Given the description of an element on the screen output the (x, y) to click on. 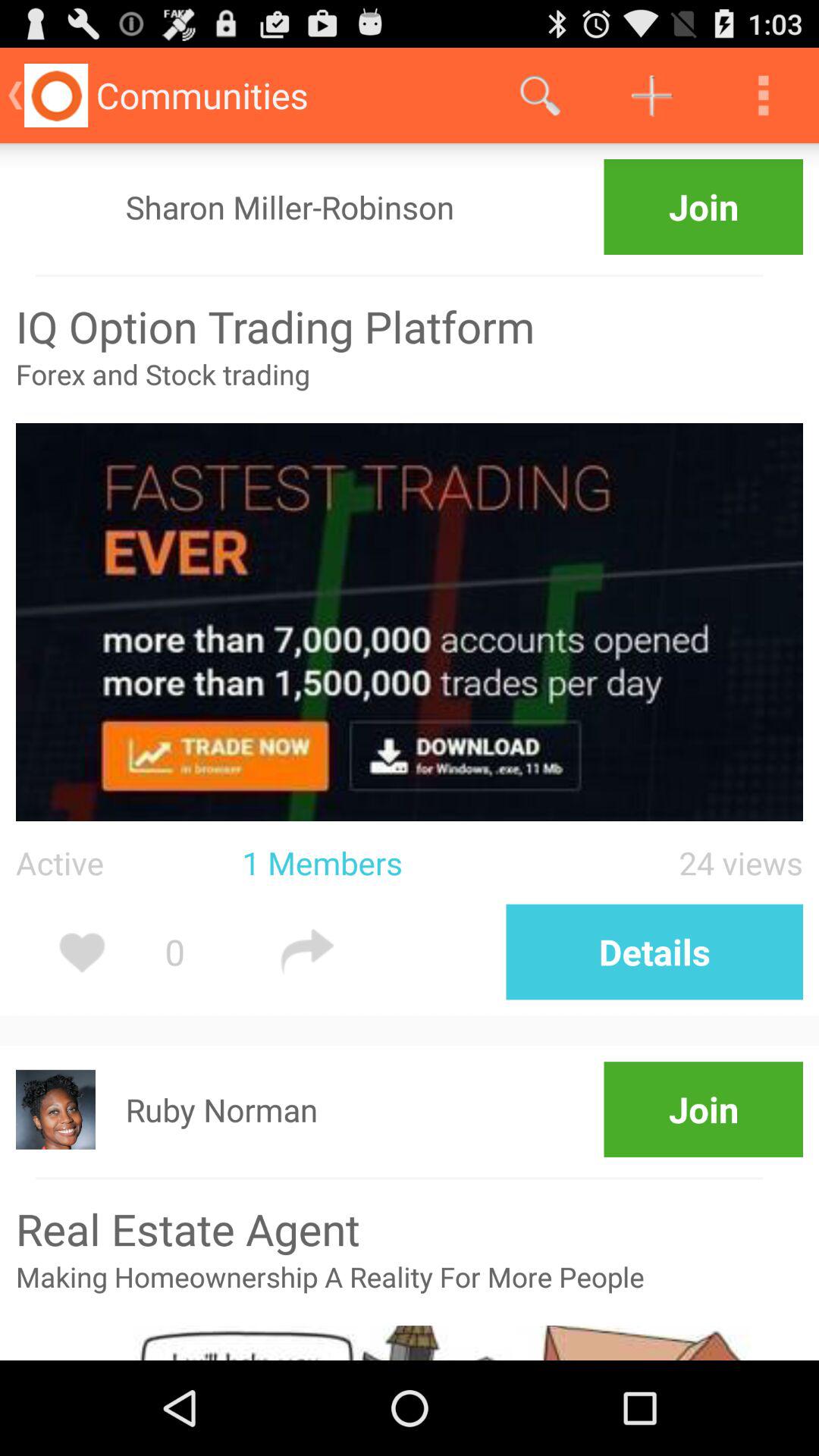
press 1 members item (391, 862)
